Given the description of an element on the screen output the (x, y) to click on. 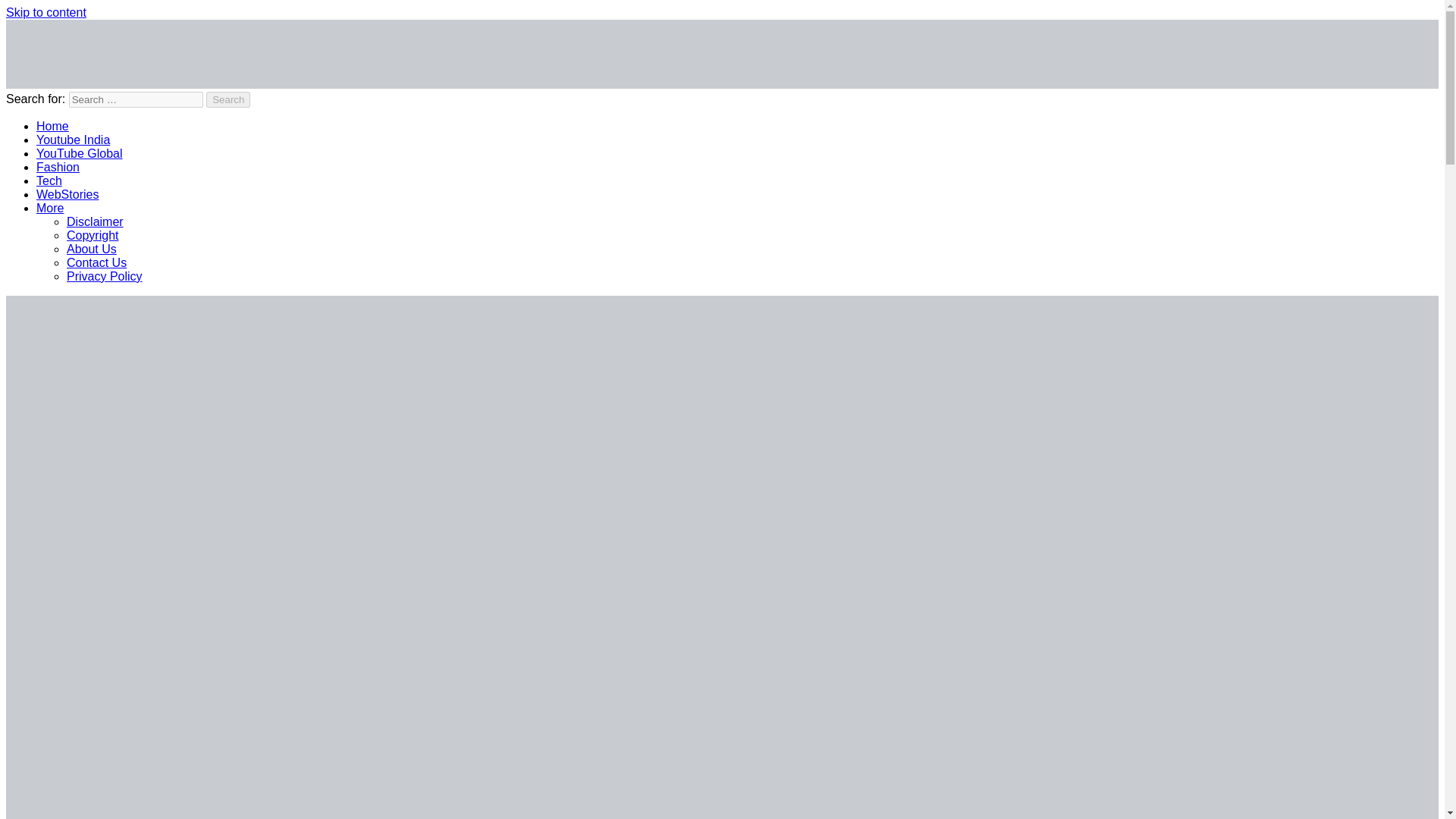
Home (52, 125)
WebStories (67, 194)
YouTube Global (79, 153)
Search (228, 99)
Skip to content (45, 11)
Bulletintube (37, 97)
About Us (91, 248)
Search (228, 99)
Privacy Policy (104, 276)
Tech (49, 180)
